Given the description of an element on the screen output the (x, y) to click on. 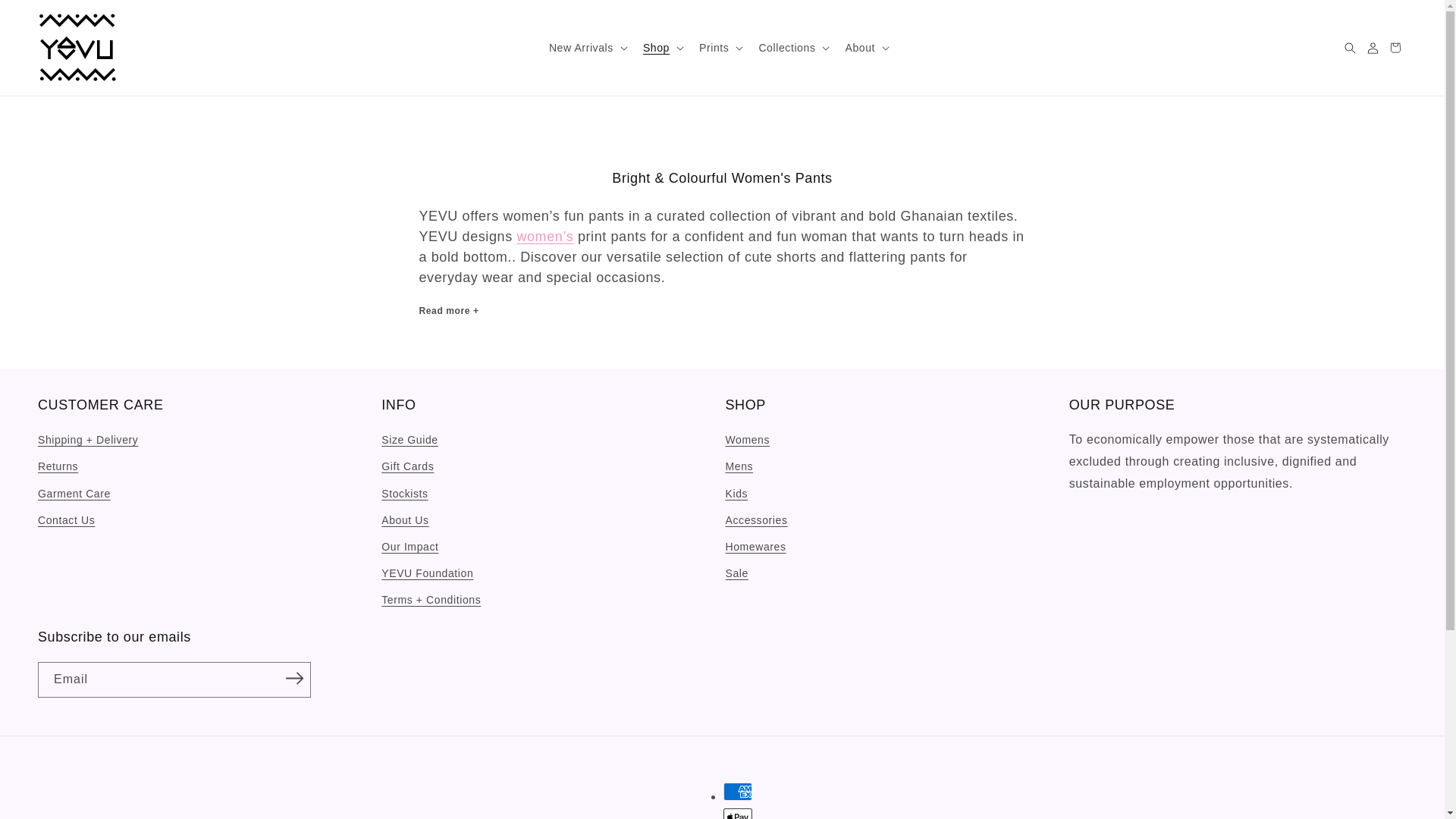
American Express (737, 791)
Skip to content (45, 17)
Apple Pay (737, 813)
